Given the description of an element on the screen output the (x, y) to click on. 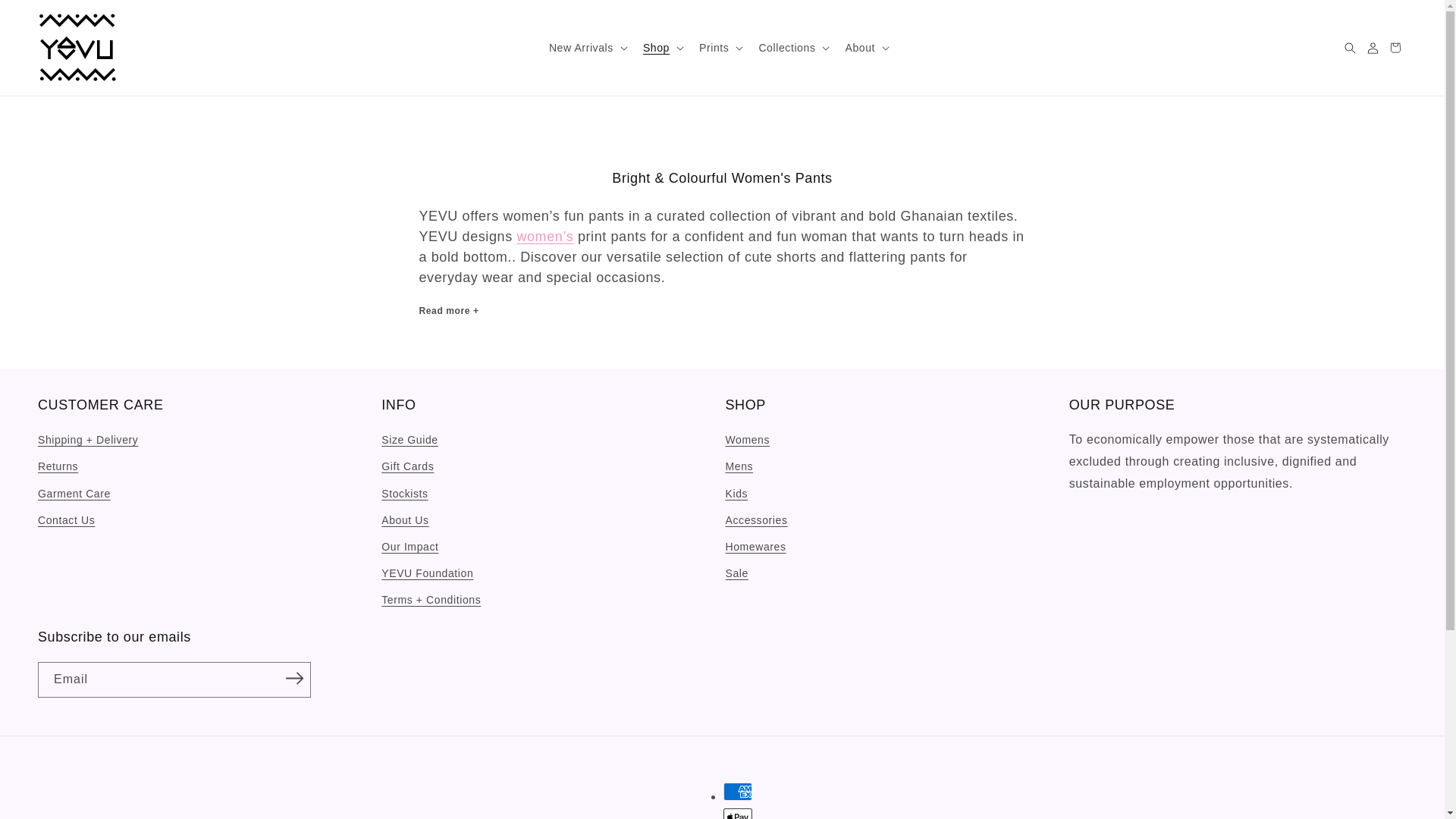
American Express (737, 791)
Skip to content (45, 17)
Apple Pay (737, 813)
